Given the description of an element on the screen output the (x, y) to click on. 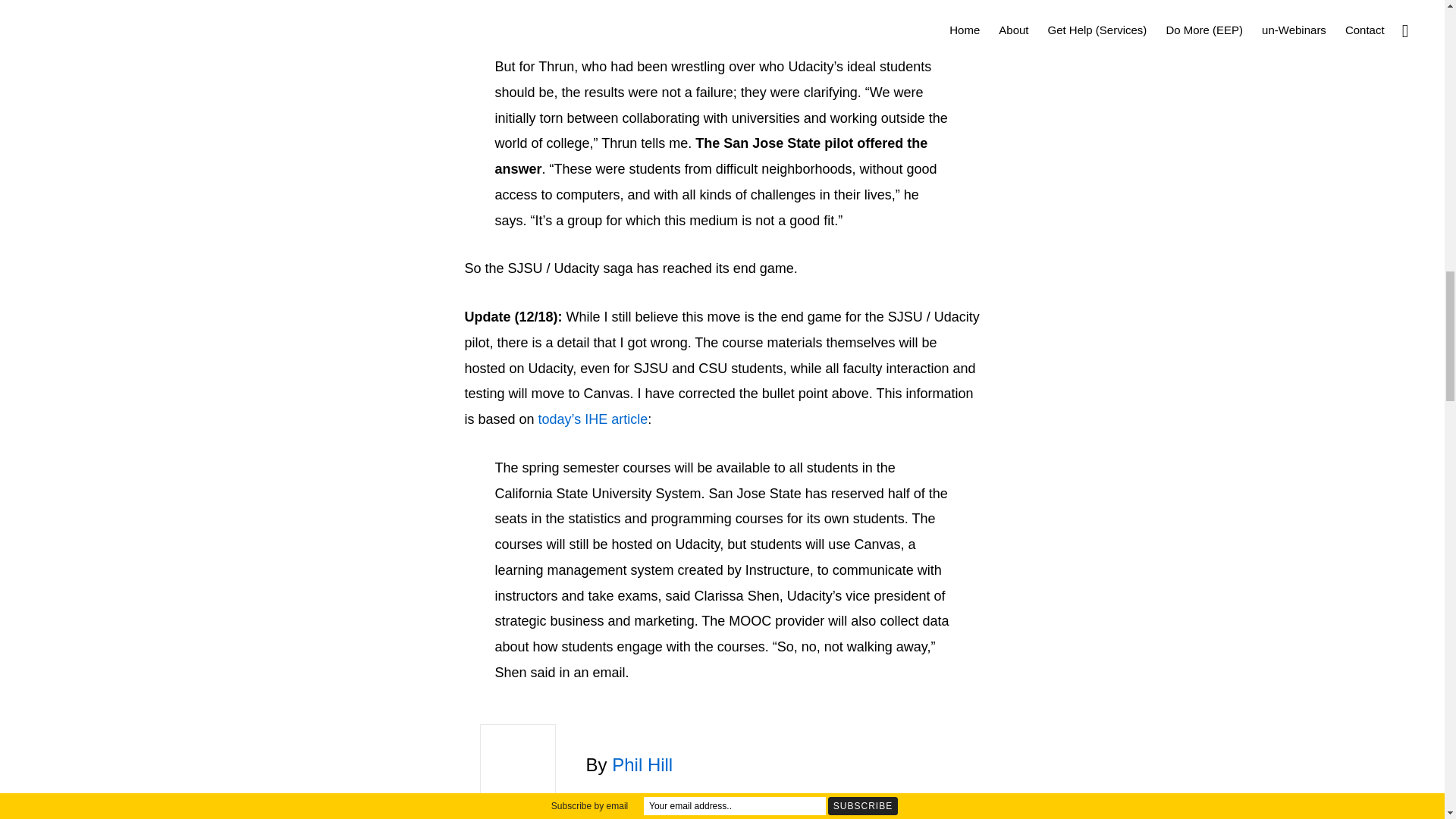
Phil Hill (641, 764)
More Posts By Phil Hill (625, 800)
Phil Hill (641, 764)
